Given the description of an element on the screen output the (x, y) to click on. 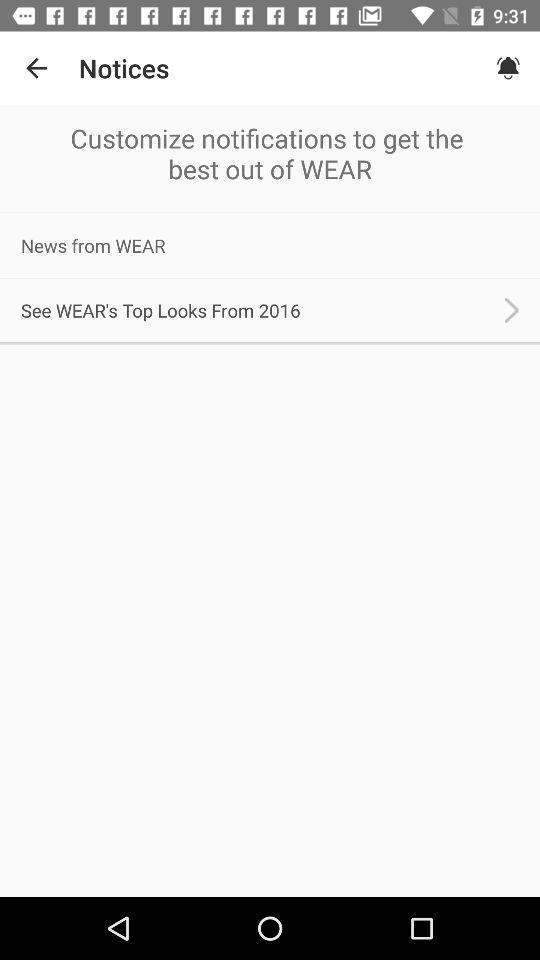
turn off the icon next to the notices icon (508, 67)
